Given the description of an element on the screen output the (x, y) to click on. 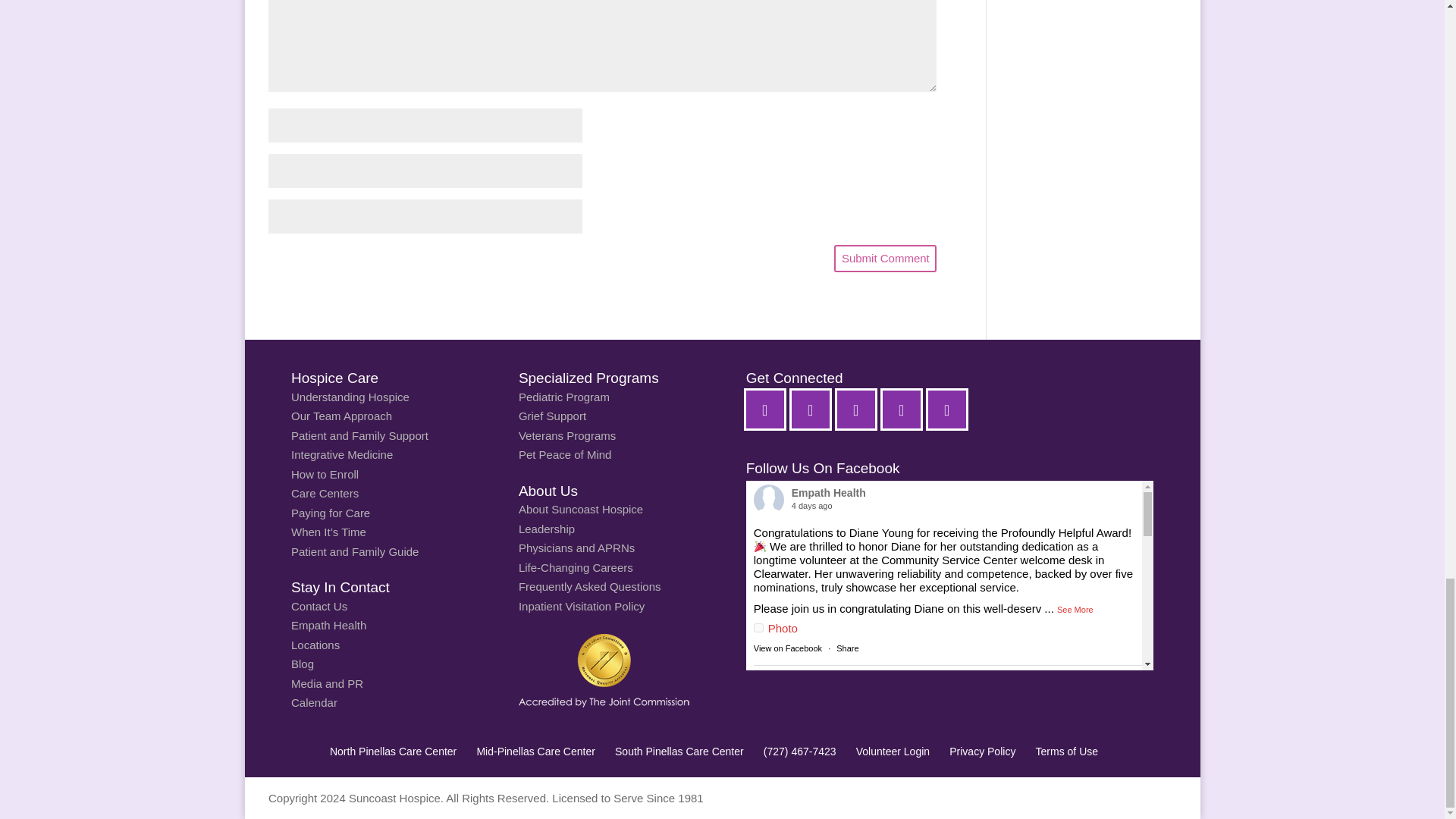
View on Facebook (788, 647)
Share (847, 647)
Submit Comment (885, 257)
